Given the description of an element on the screen output the (x, y) to click on. 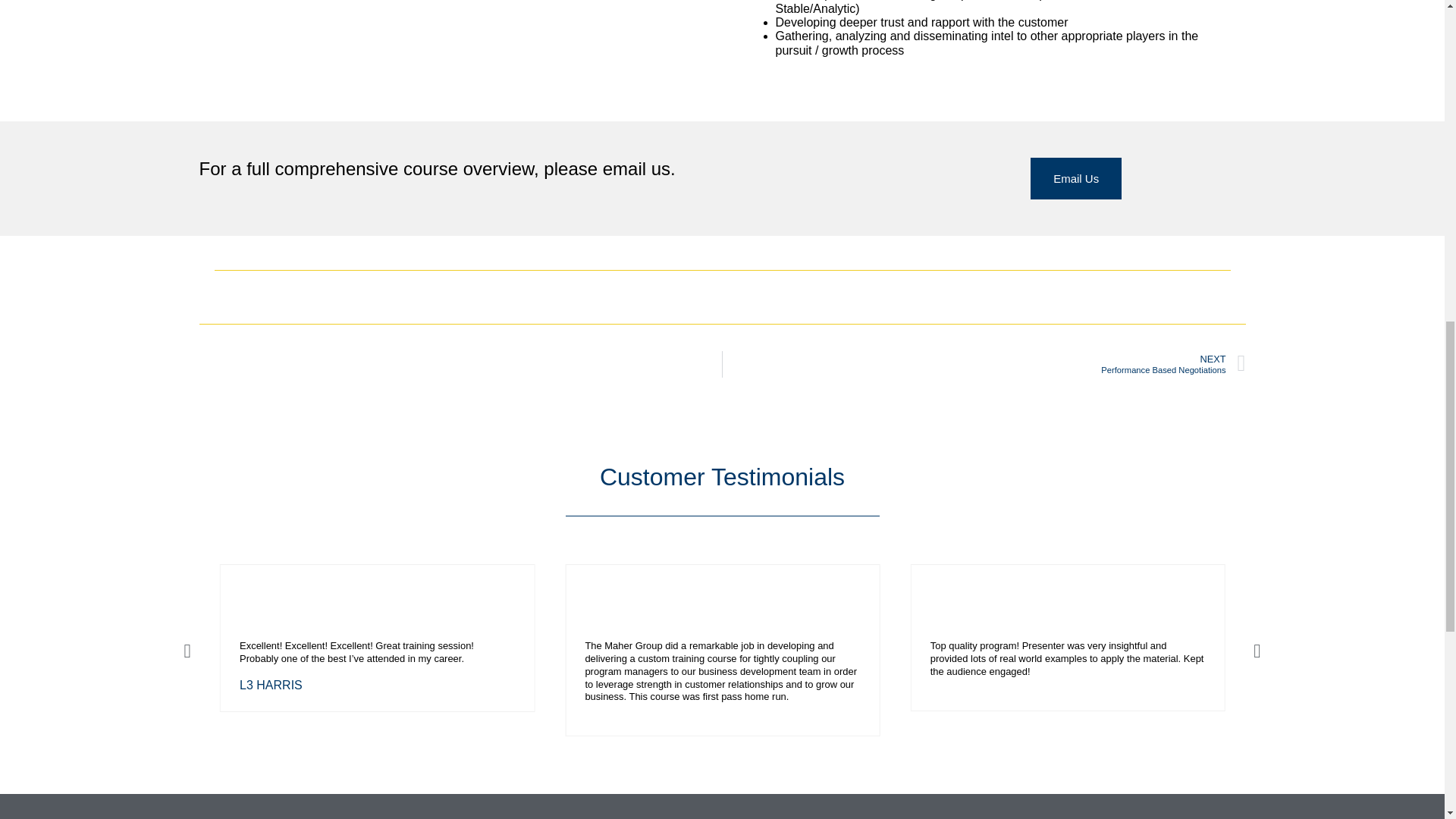
Email Us (984, 364)
